Given the description of an element on the screen output the (x, y) to click on. 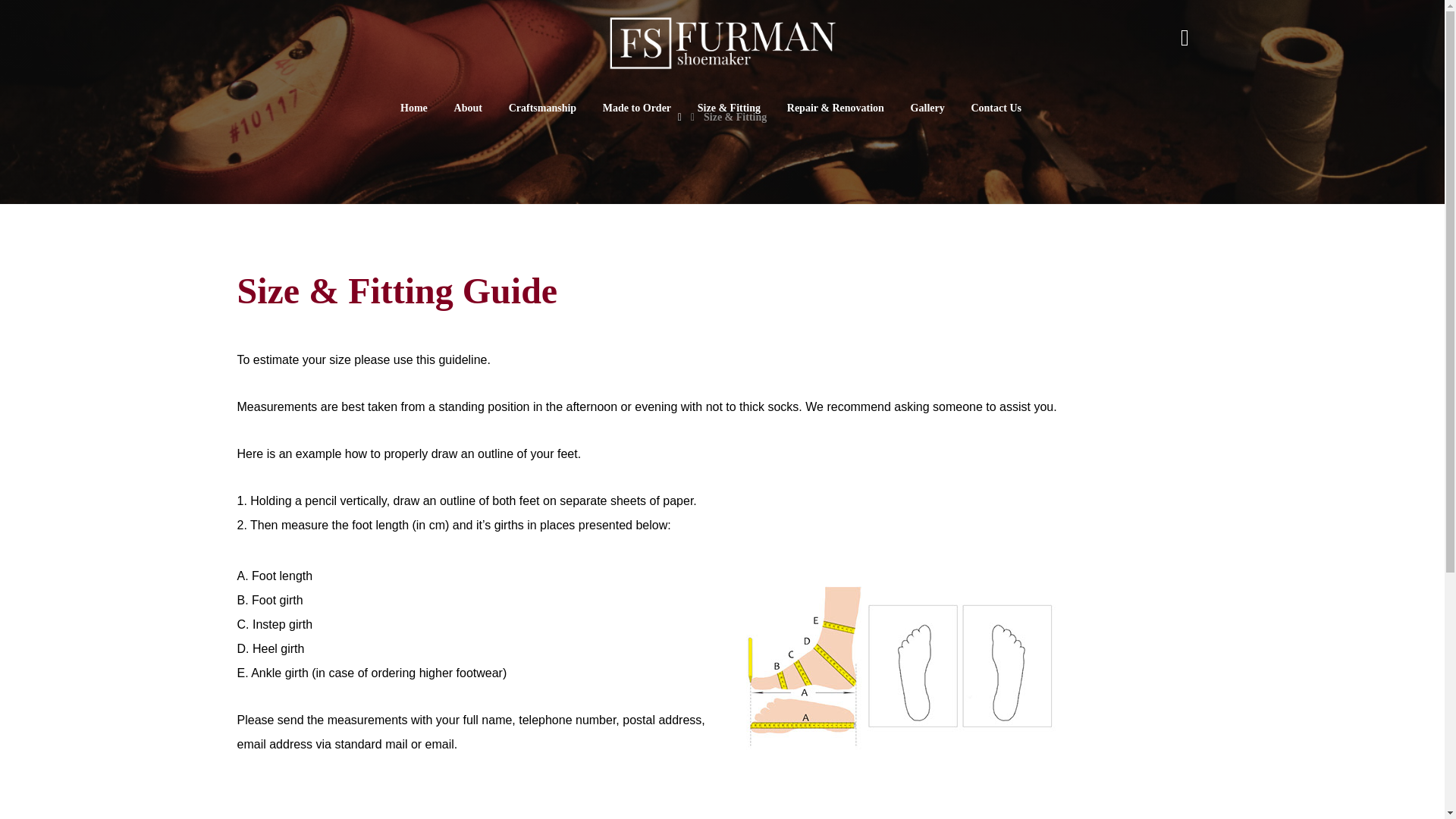
Facebook (1184, 37)
Made to Order (636, 108)
Gallery (927, 108)
About (467, 108)
Contact Us (996, 108)
Furman Shoemaker (721, 42)
Craftsmanship (542, 108)
Home (414, 108)
